Given the description of an element on the screen output the (x, y) to click on. 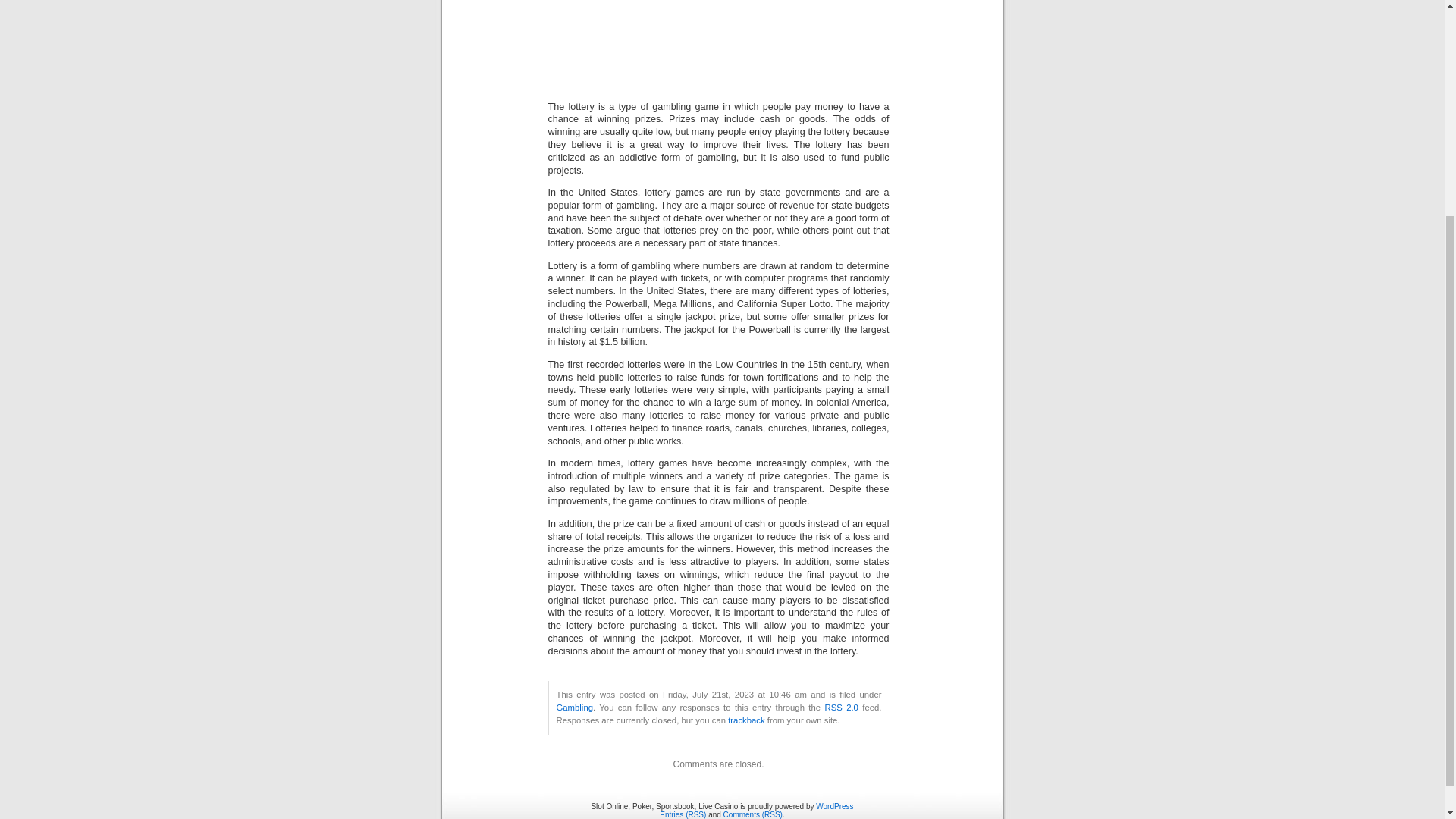
Gambling (574, 706)
WordPress (834, 806)
RSS 2.0 (840, 706)
trackback (746, 719)
